Given the description of an element on the screen output the (x, y) to click on. 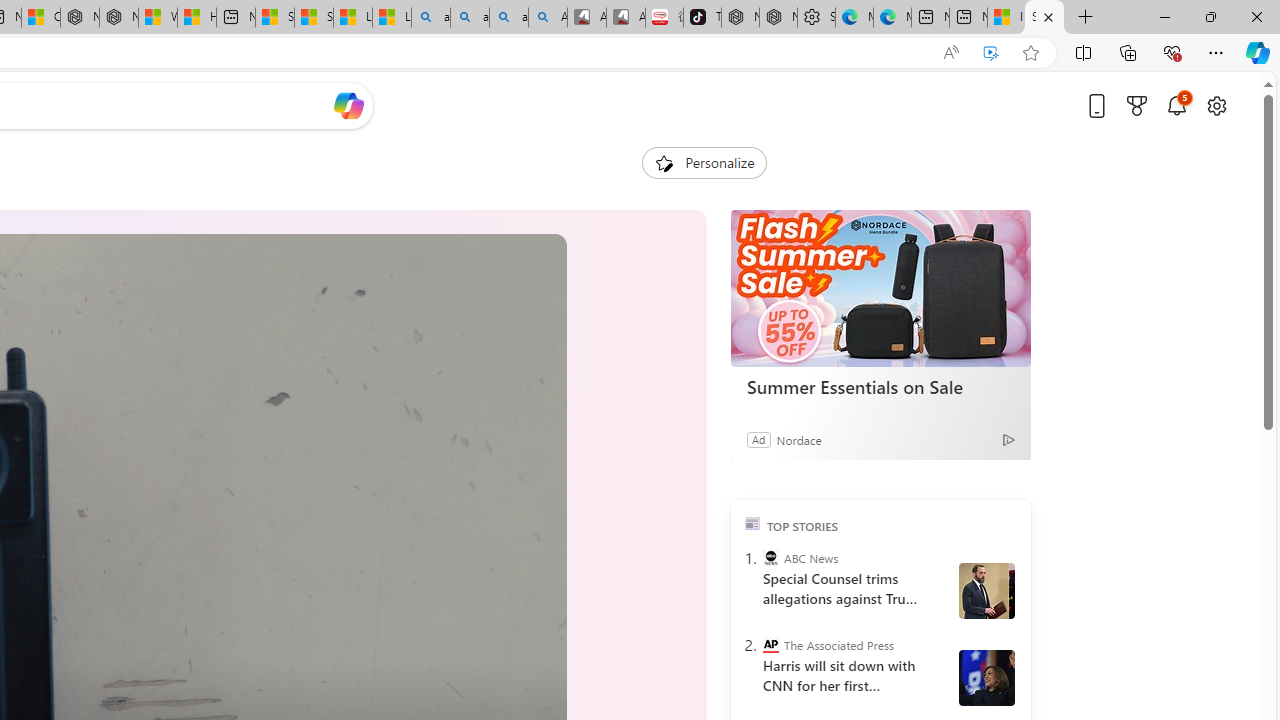
I Gained 20 Pounds of Muscle in 30 Days! | Watch (1006, 17)
Summer Essentials on Sale (880, 386)
Amazon Echo Robot - Search Images (547, 17)
Open settings (1216, 105)
Microsoft rewards (1137, 105)
